Given the description of an element on the screen output the (x, y) to click on. 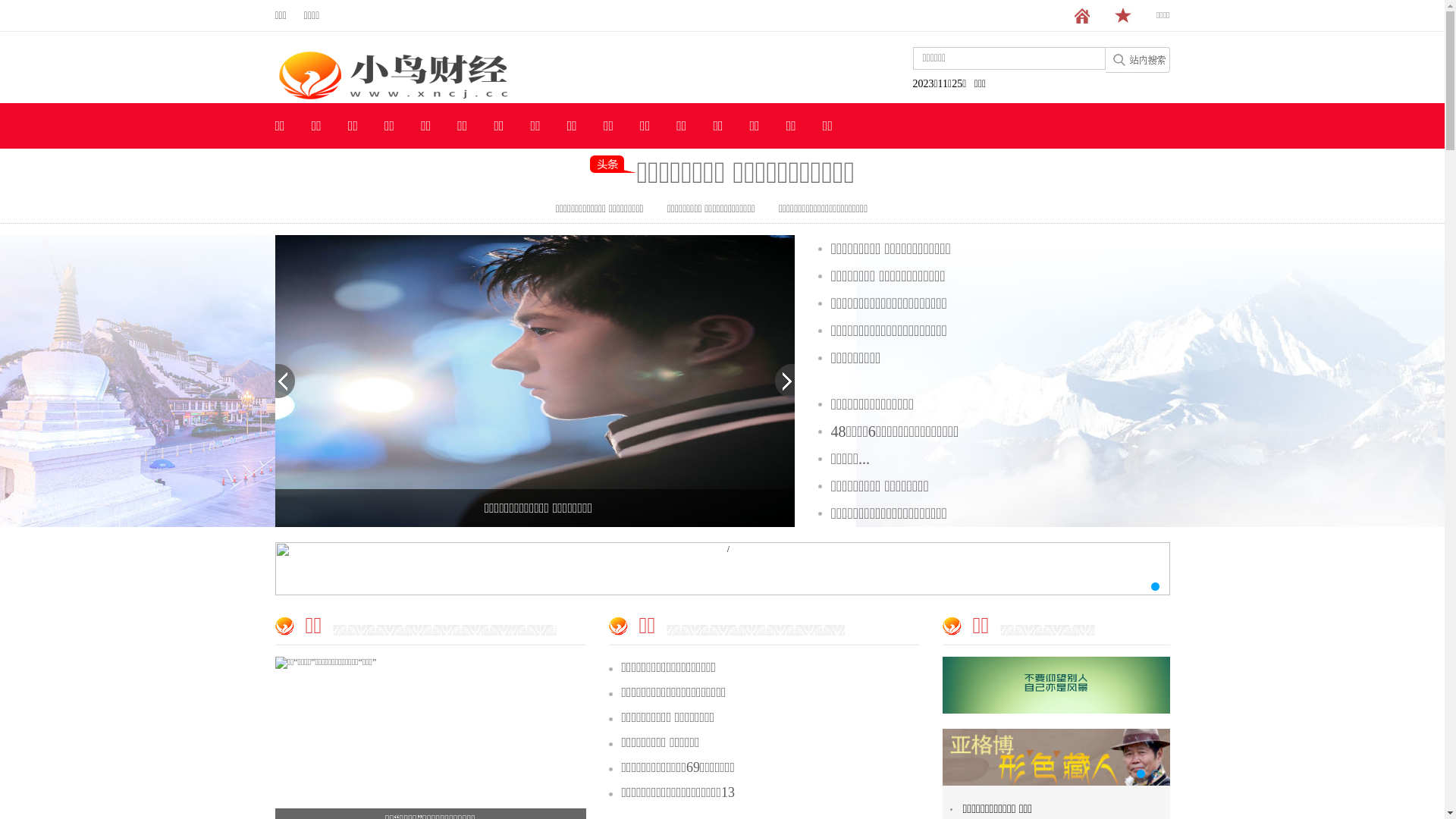
/ Element type: hover (721, 568)
